Given the description of an element on the screen output the (x, y) to click on. 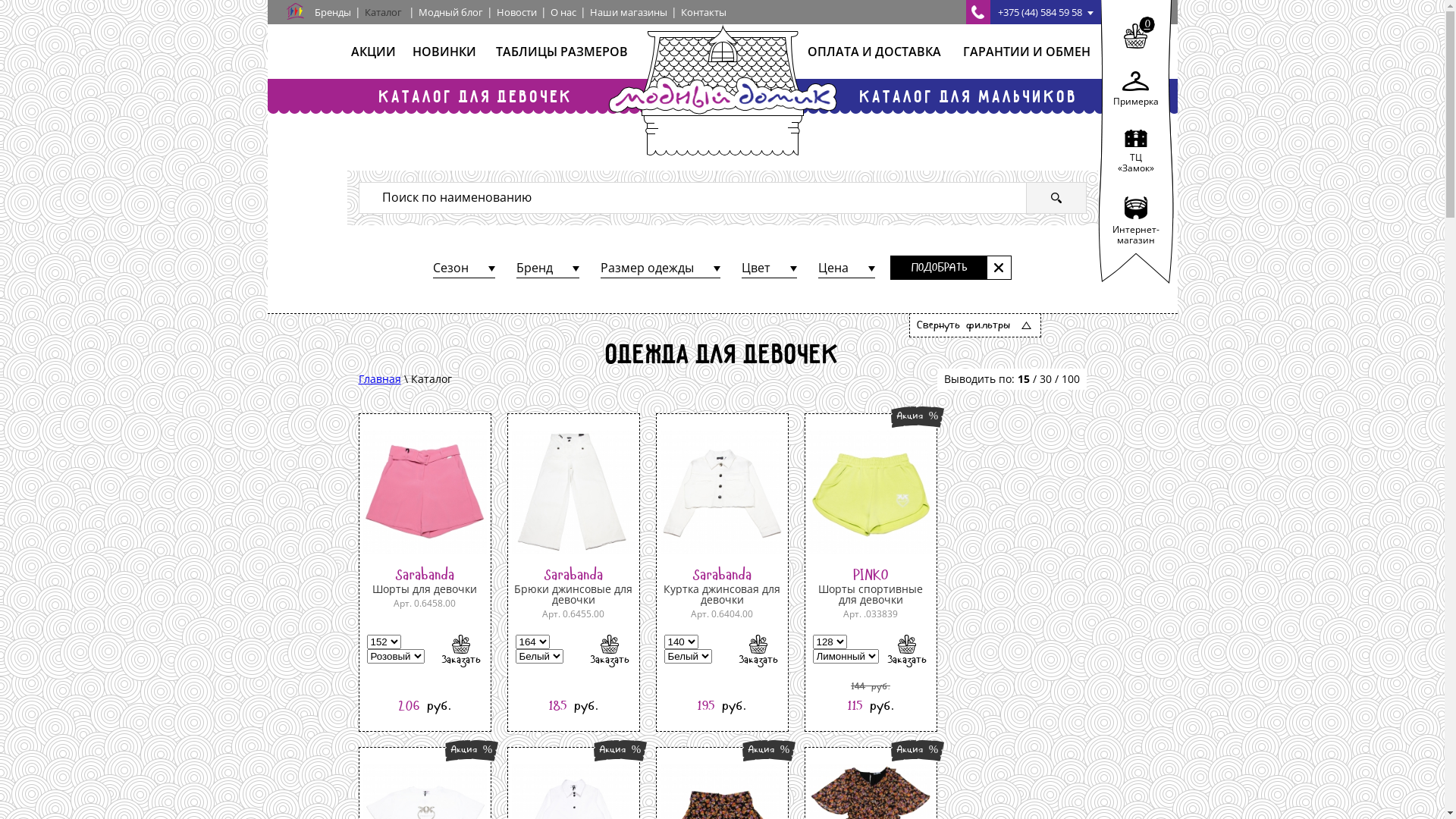
+375 (44) 584 59 58 Element type: text (1033, 12)
15 Element type: text (1023, 378)
30 Element type: text (1044, 378)
100 Element type: text (1070, 378)
